Given the description of an element on the screen output the (x, y) to click on. 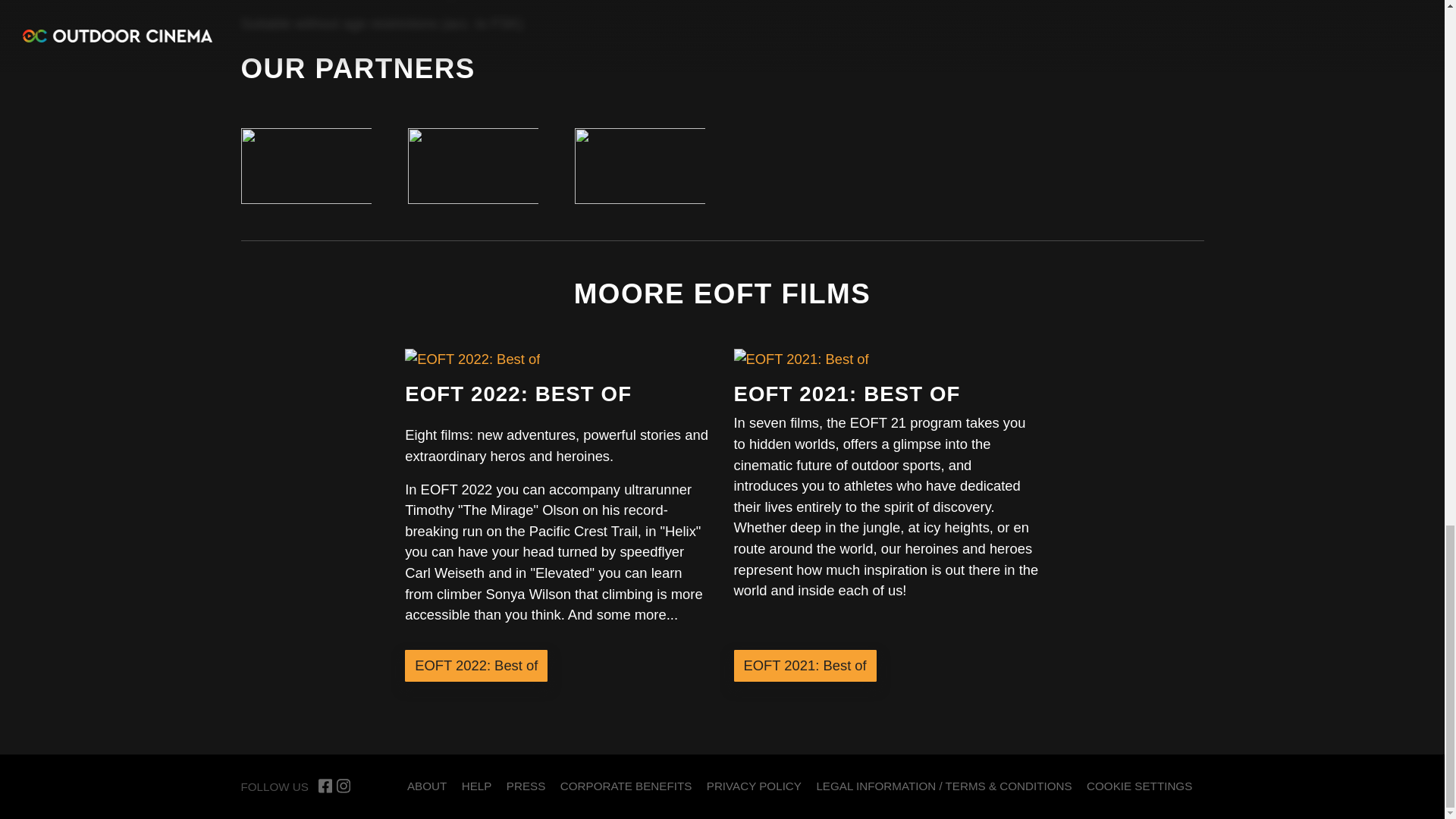
Go to Privacy Policy (754, 786)
Press (526, 786)
PRIVACY POLICY (754, 786)
EOFT 2022: Best of (475, 665)
About (426, 786)
CORPORATE BENEFITS (626, 786)
PRESS (526, 786)
Frequently Asked Questions (476, 786)
ABOUT (426, 786)
HELP (476, 786)
